Given the description of an element on the screen output the (x, y) to click on. 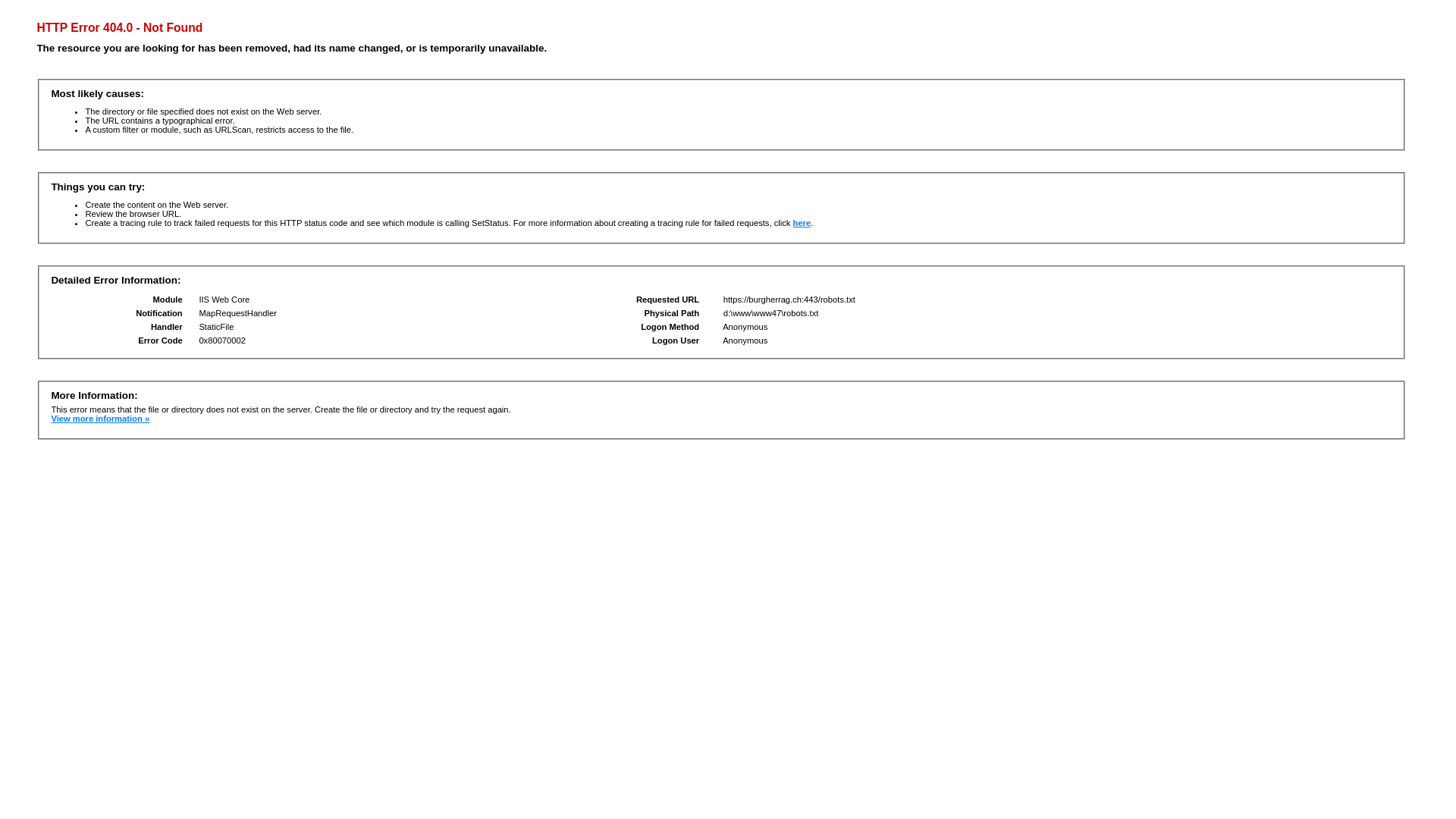
here Element type: text (802, 222)
